Given the description of an element on the screen output the (x, y) to click on. 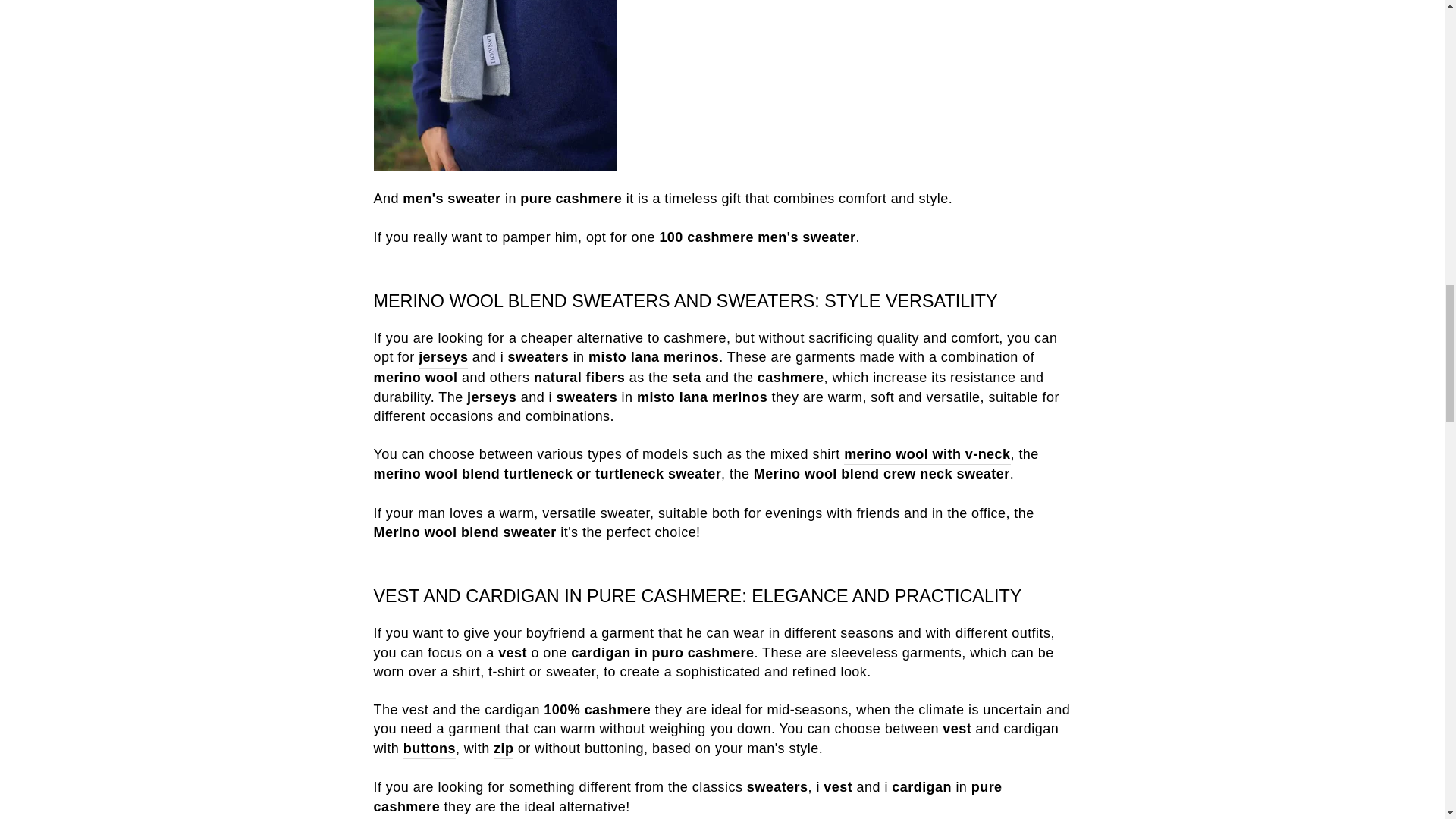
sciarpa e maglia uomo puro cashmere (721, 85)
